Given the description of an element on the screen output the (x, y) to click on. 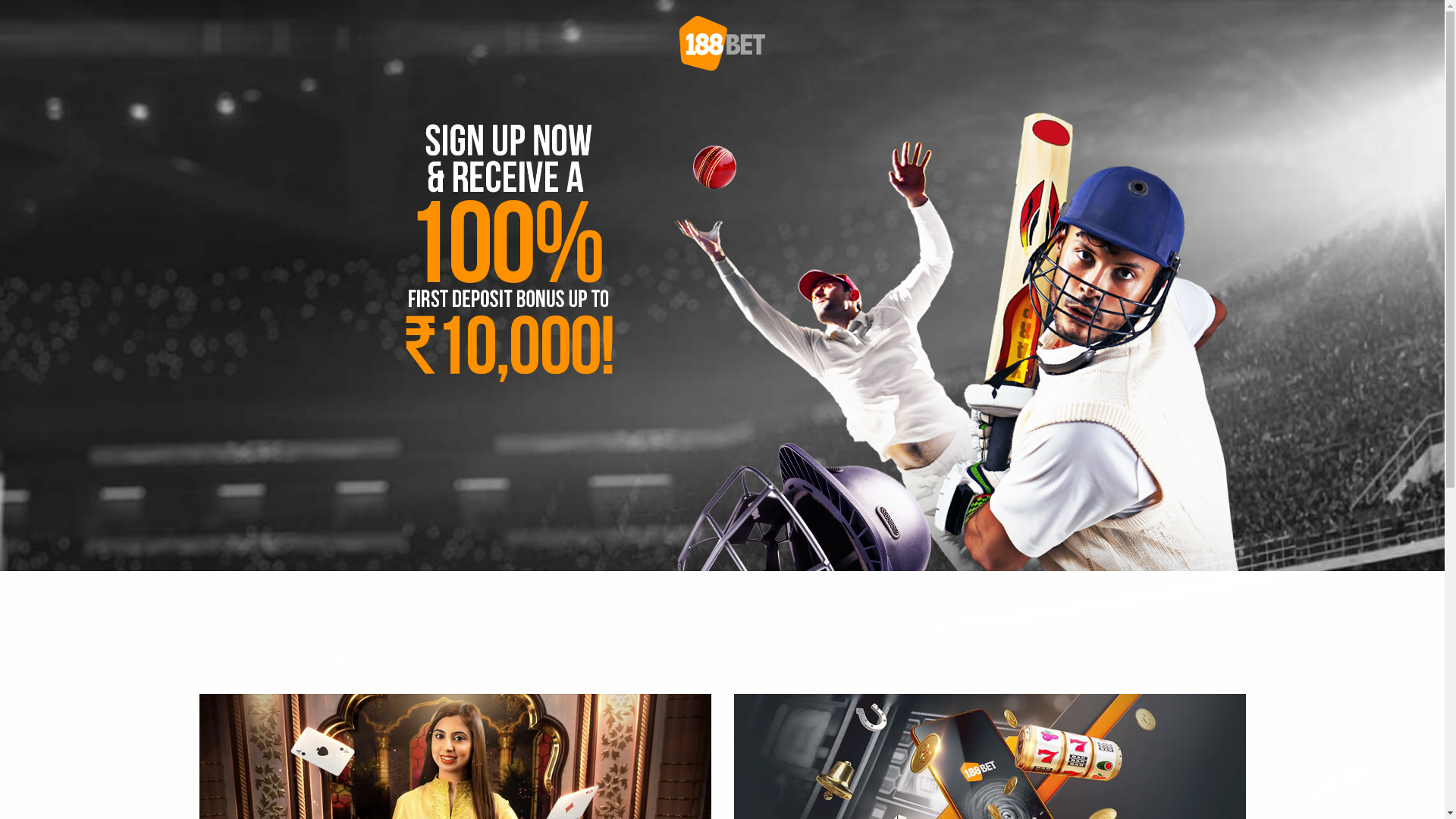
1 Register
Quick & Easy Registration Element type: text (349, 663)
JOIN NOW Element type: text (722, 595)
3 Claim Bonus
Enjoy your bonus from the Promotions page Element type: text (1093, 663)
JOIN NOW Element type: text (722, 600)
2 Deposit
Safe, Secure & Convenient Options Element type: text (721, 663)
